Given the description of an element on the screen output the (x, y) to click on. 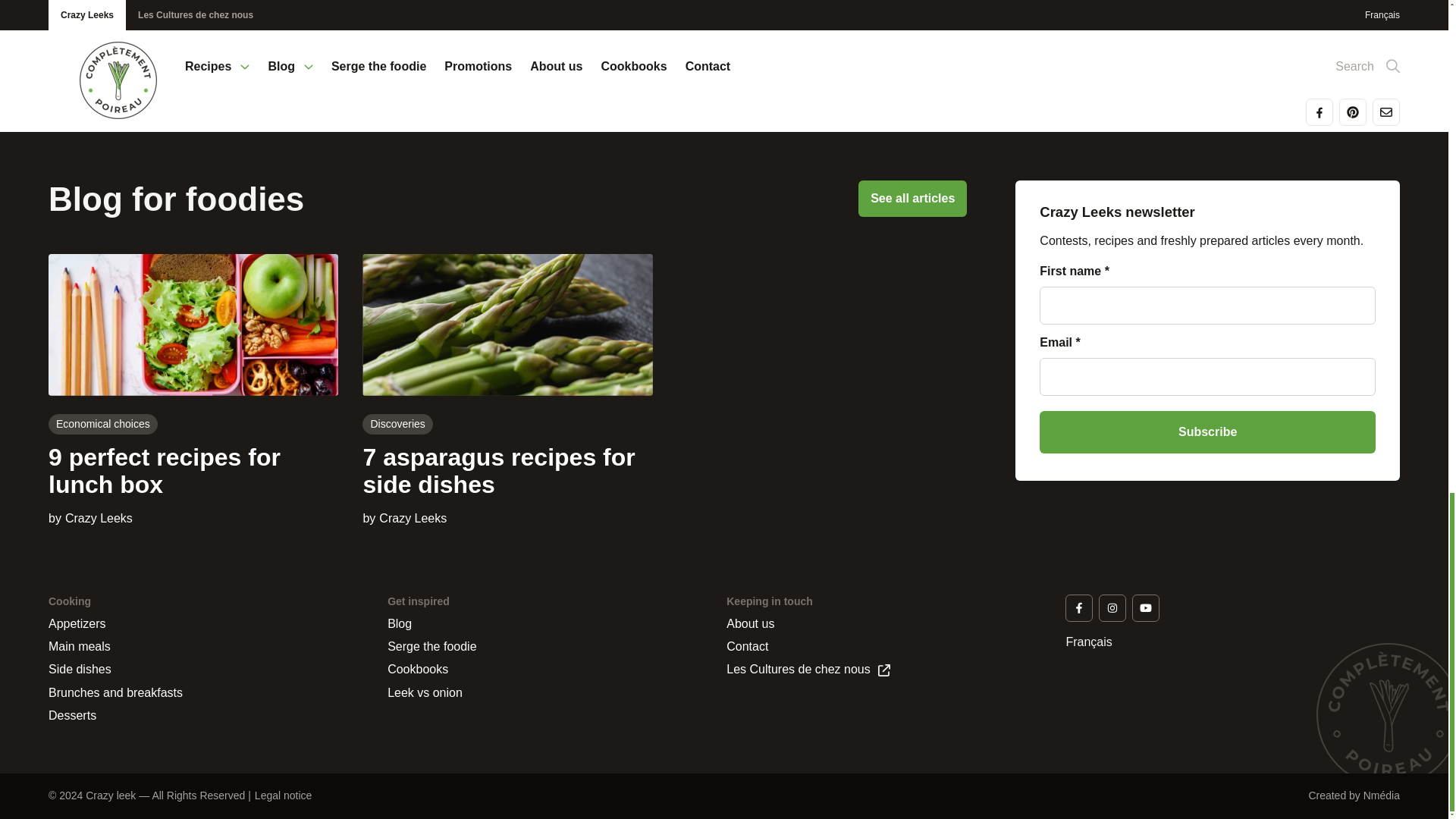
Subscribe (1207, 432)
